Given the description of an element on the screen output the (x, y) to click on. 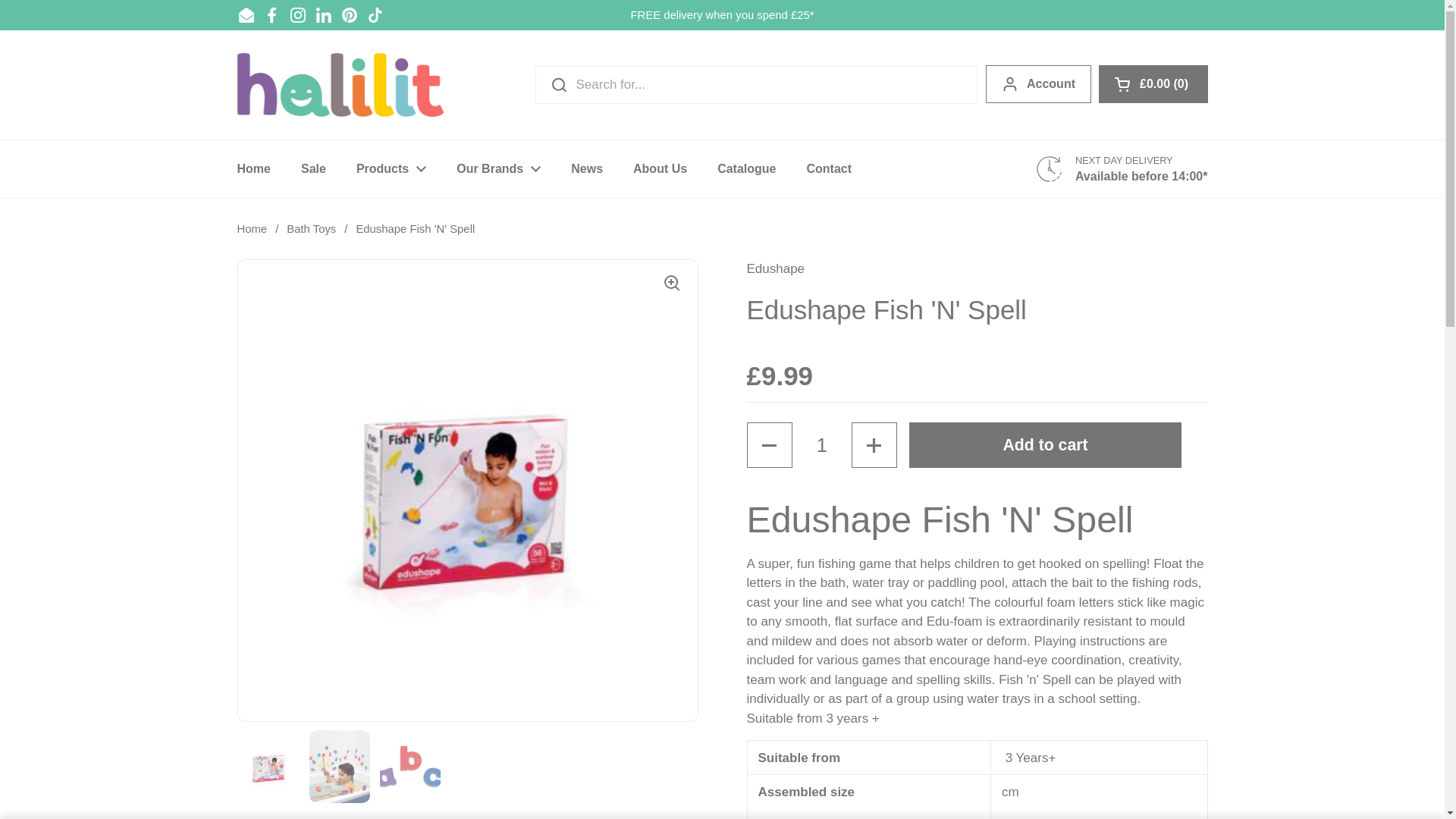
Pinterest (348, 14)
Products (390, 168)
TikTok (374, 14)
Sale (312, 168)
Email (244, 14)
Instagram (296, 14)
Products (390, 168)
Facebook (271, 14)
Open cart (1153, 84)
1 (821, 444)
